Given the description of an element on the screen output the (x, y) to click on. 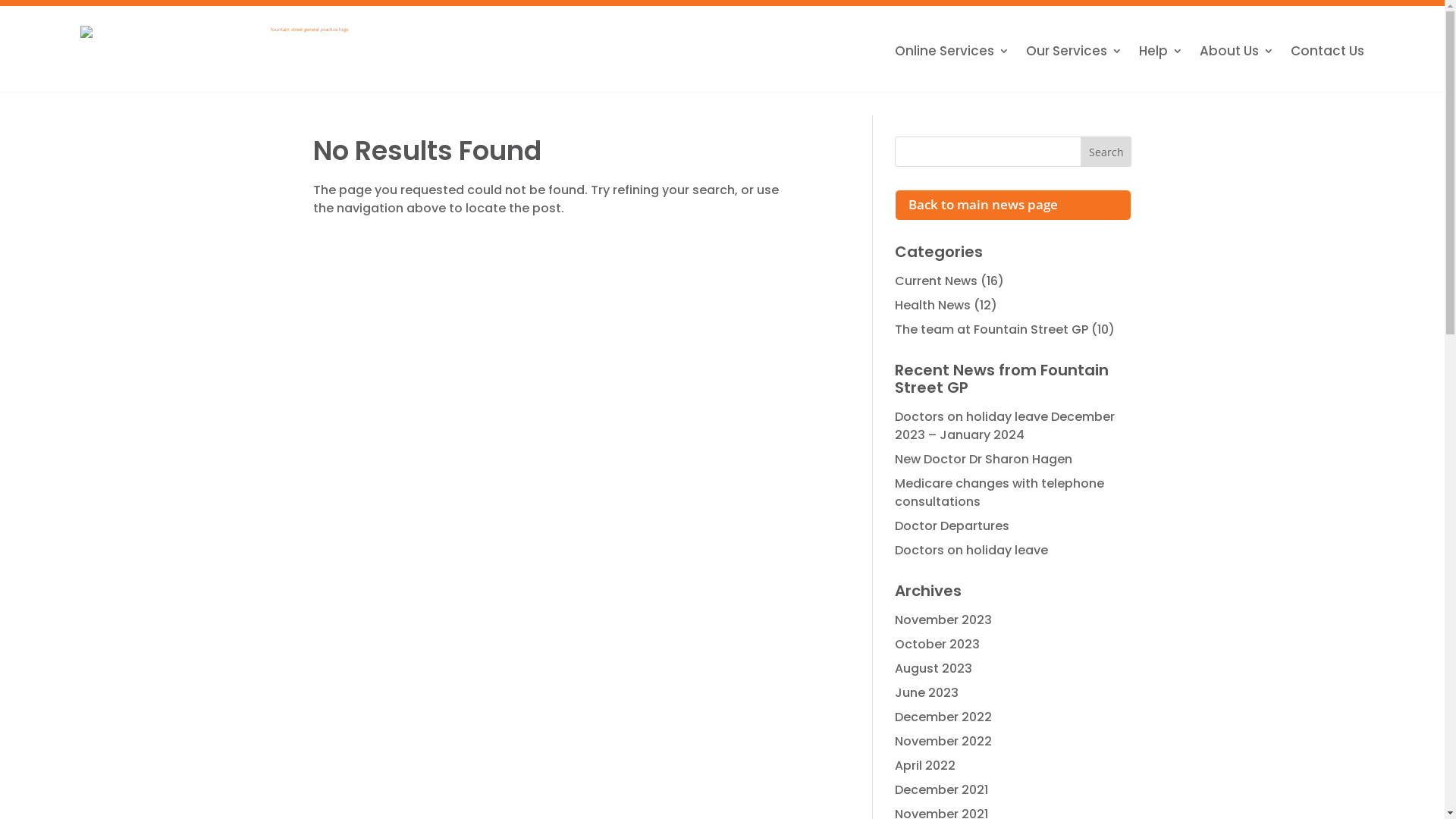
New Doctor Dr Sharon Hagen Element type: text (983, 458)
Medicare changes with telephone consultations Element type: text (999, 492)
Help Element type: text (1161, 50)
June 2023 Element type: text (926, 692)
Doctor Departures Element type: text (951, 525)
Online Services Element type: text (951, 50)
Current News Element type: text (935, 280)
April 2022 Element type: text (924, 765)
Health News Element type: text (932, 304)
December 2021 Element type: text (941, 789)
November 2022 Element type: text (942, 740)
October 2023 Element type: text (936, 643)
Back to main news page Element type: text (1012, 204)
Contact Us Element type: text (1327, 50)
The team at Fountain Street GP Element type: text (991, 329)
Doctors on holiday leave Element type: text (971, 549)
August 2023 Element type: text (933, 668)
Search Element type: text (1106, 151)
Our Services Element type: text (1074, 50)
About Us Element type: text (1236, 50)
November 2023 Element type: text (942, 619)
December 2022 Element type: text (942, 716)
